Given the description of an element on the screen output the (x, y) to click on. 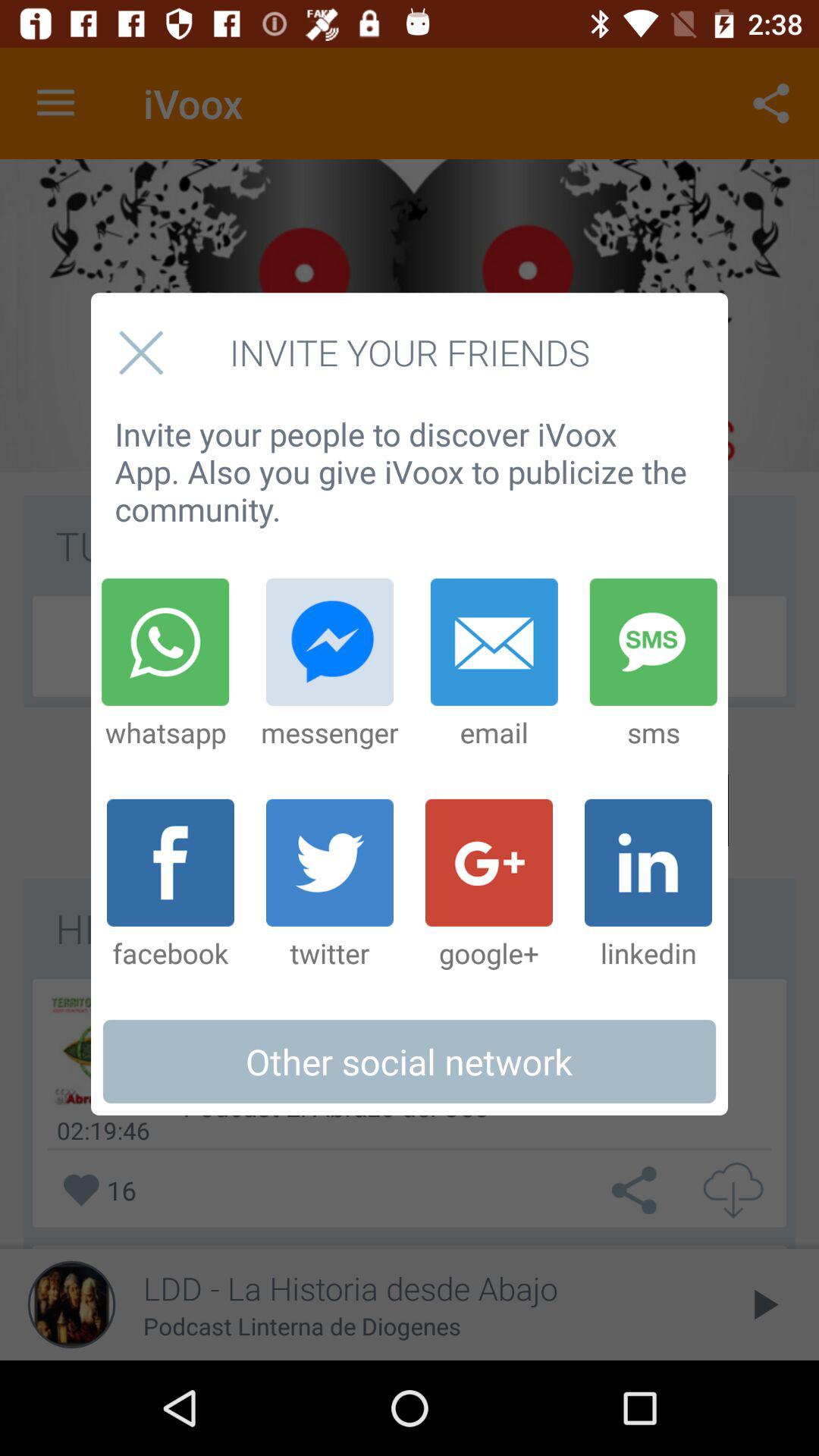
press the icon to the right of the twitter item (488, 885)
